Given the description of an element on the screen output the (x, y) to click on. 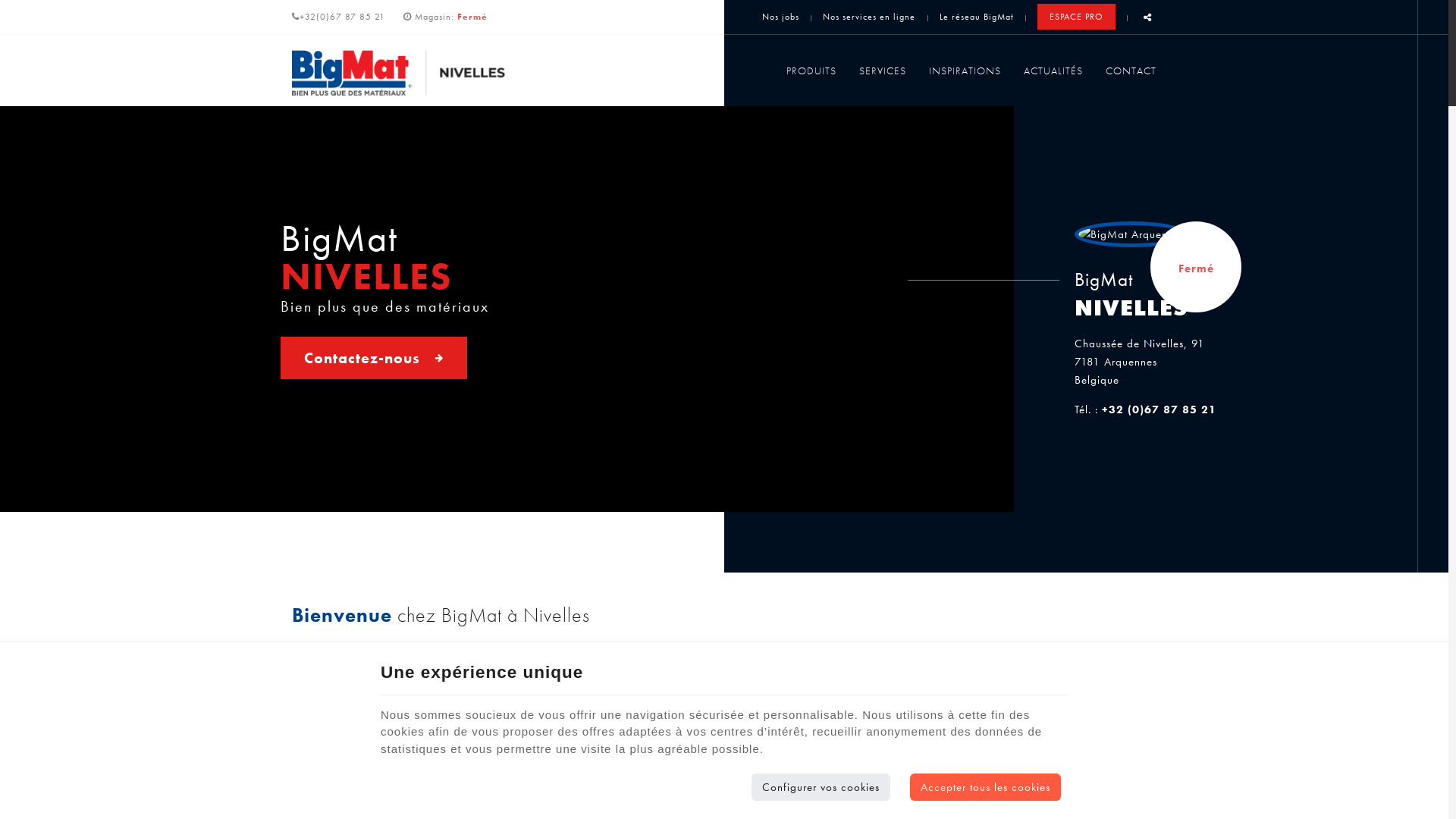
SERVICES Element type: text (882, 70)
BigMat Nivelles Element type: hover (419, 72)
Nos jobs Element type: text (780, 16)
Contactez-nous Element type: text (373, 357)
INSPIRATIONS Element type: text (964, 70)
+32(0)67 87 85 21 Element type: text (338, 16)
BigMat Arquennes Element type: hover (1131, 234)
CONTACT Element type: text (1125, 70)
Lien vers notre Facebook Element type: text (735, 736)
ESPACE PRO Element type: text (1076, 16)
Accepter tous les cookies Element type: text (985, 786)
Partager ce contenu Element type: text (1147, 17)
Nos services en ligne Element type: text (868, 16)
PRODUITS Element type: text (811, 70)
Configurer vos cookies Element type: text (820, 786)
